Given the description of an element on the screen output the (x, y) to click on. 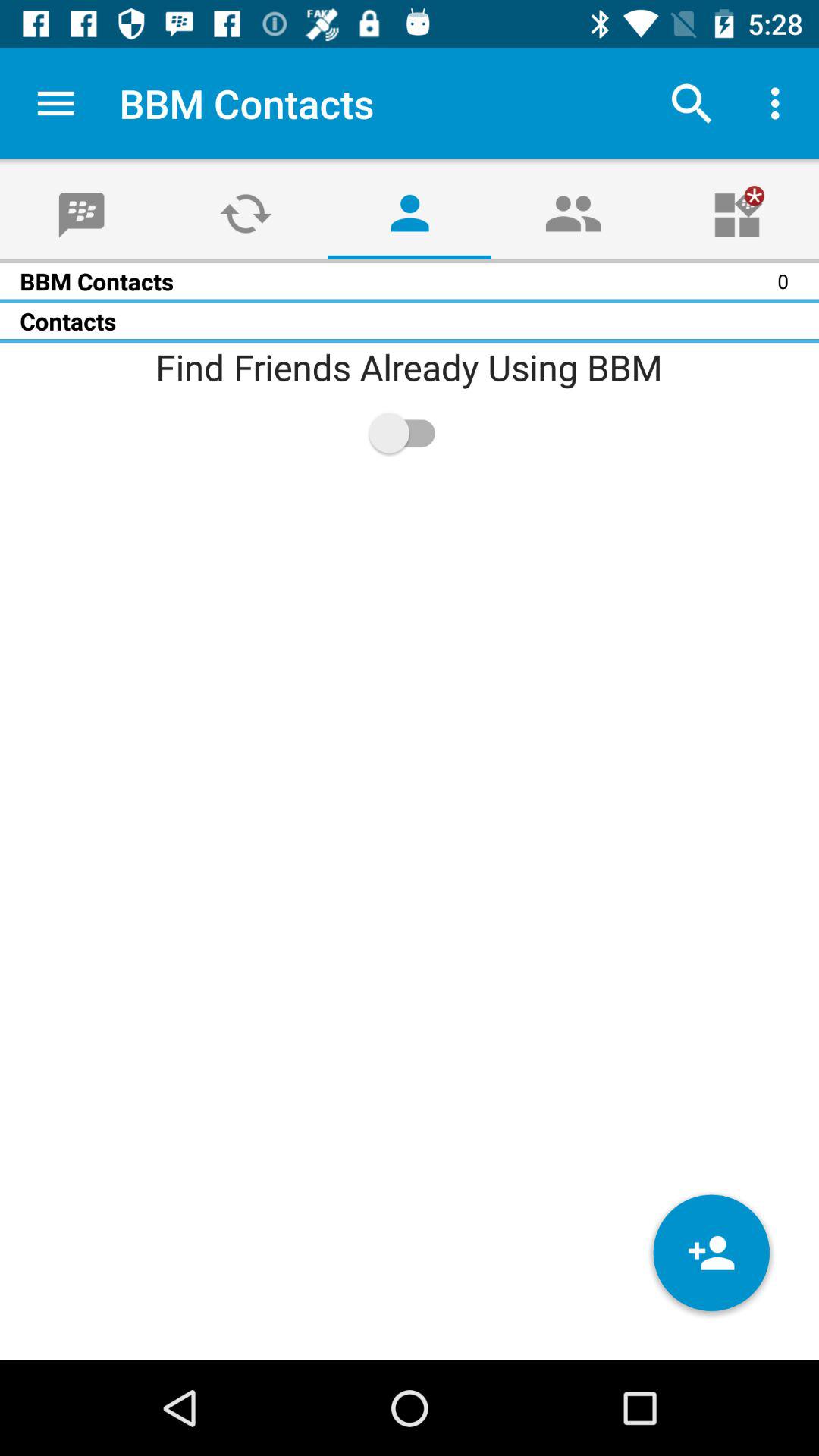
choose app to the left of the bbm contacts (55, 103)
